Given the description of an element on the screen output the (x, y) to click on. 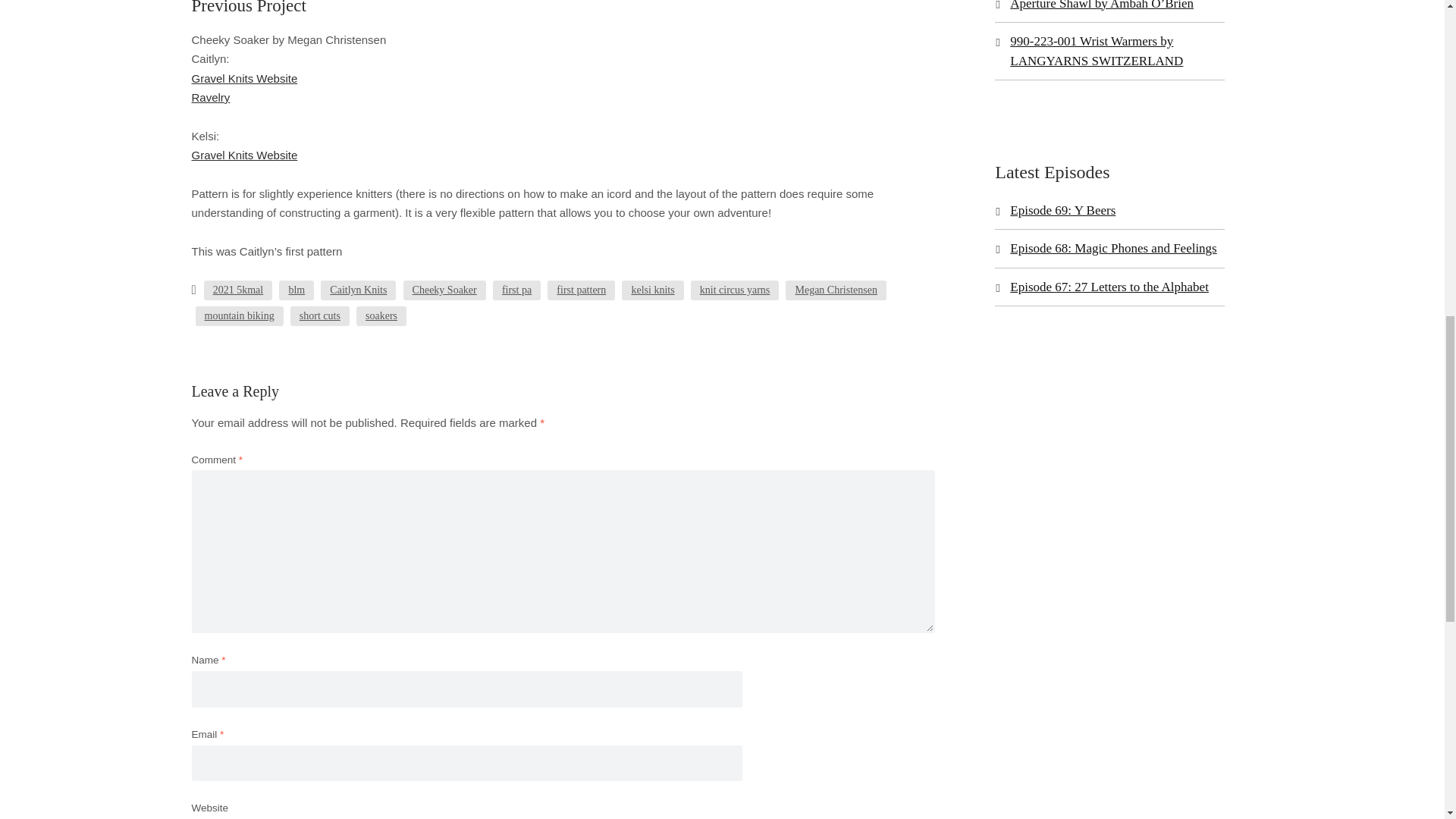
mountain biking (239, 315)
first pattern (580, 290)
Megan Christensen (835, 290)
2021 5kmal (238, 290)
knit circus yarns (734, 290)
Cheeky Soaker (444, 290)
Ravelry (210, 97)
Gravel Knits Website (243, 154)
blm (296, 290)
kelsi knits (651, 290)
